Given the description of an element on the screen output the (x, y) to click on. 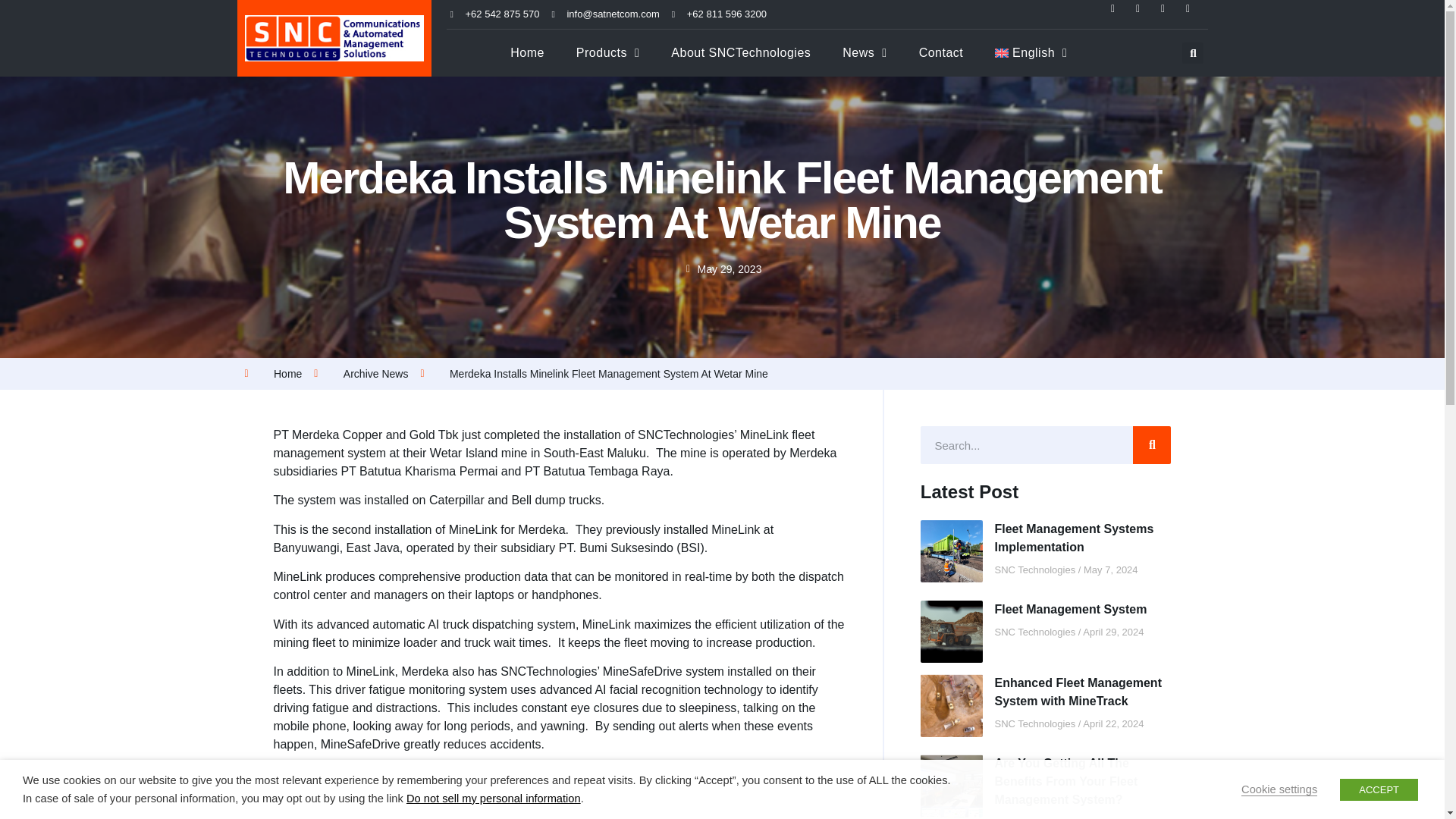
Products (607, 52)
Home (527, 52)
English (1030, 52)
About SNCTechnologies (740, 52)
News (864, 52)
